Given the description of an element on the screen output the (x, y) to click on. 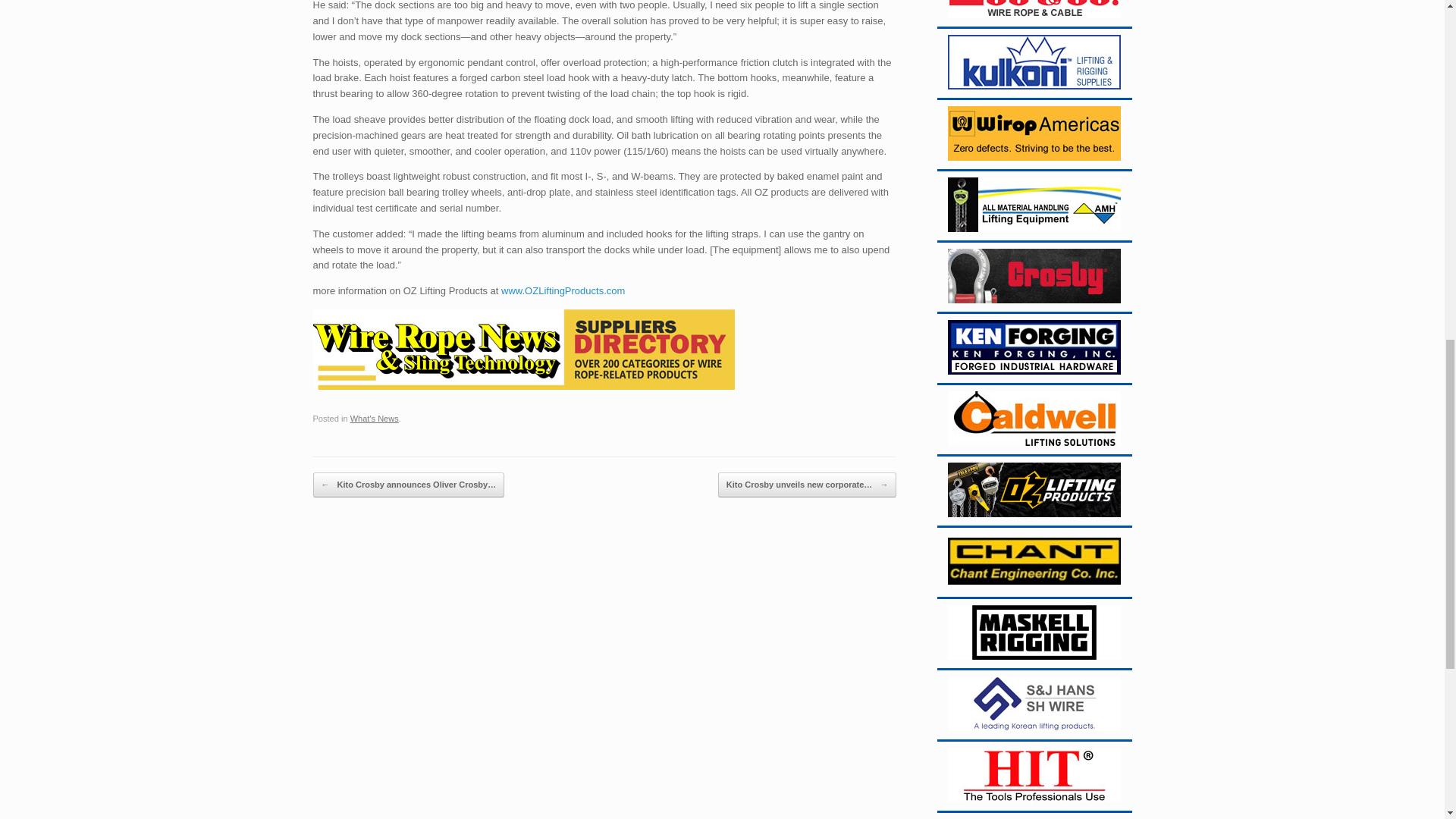
Caldwell Lifting Solutions (1034, 418)
www.OZLiftingProducts.com (562, 290)
What's News (374, 418)
